Given the description of an element on the screen output the (x, y) to click on. 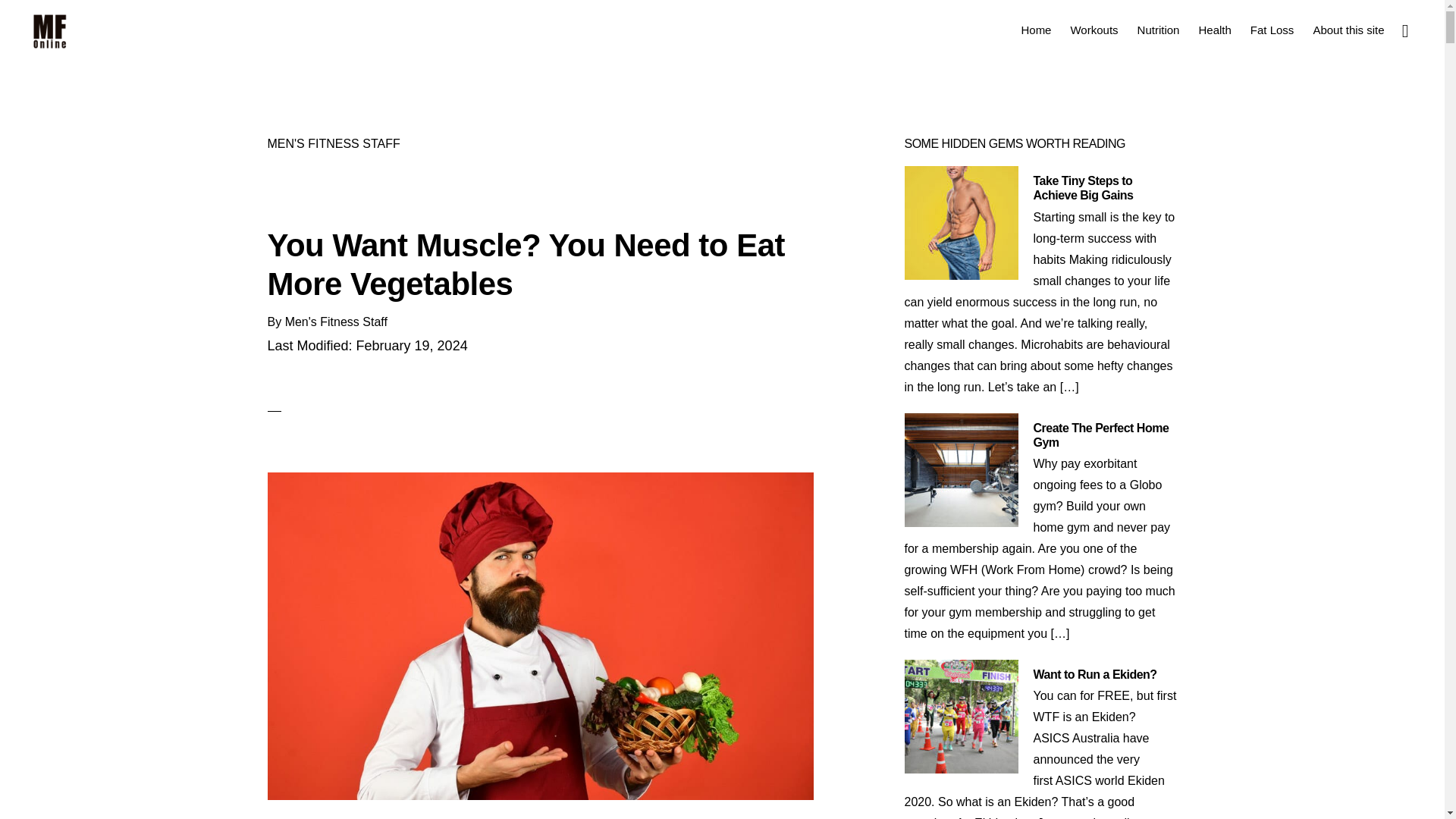
About this site (1347, 29)
You Want Muscle? You Need to Eat More Vegetables (525, 264)
Nutrition (1158, 29)
Workouts (1093, 29)
Health (1215, 29)
Home (1035, 29)
Fat Loss (1272, 29)
